Given the description of an element on the screen output the (x, y) to click on. 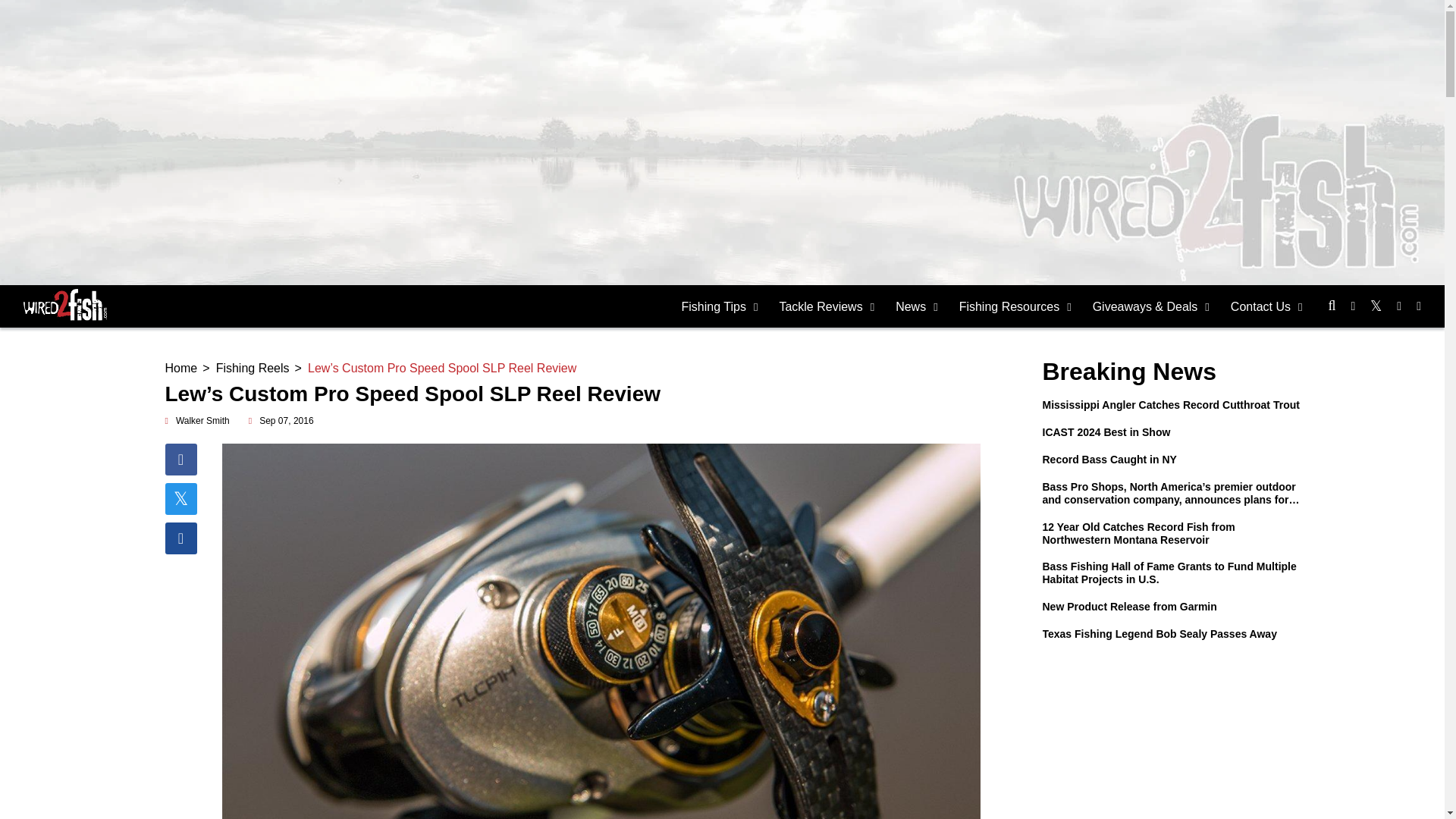
Fishing Tips (719, 306)
